Given the description of an element on the screen output the (x, y) to click on. 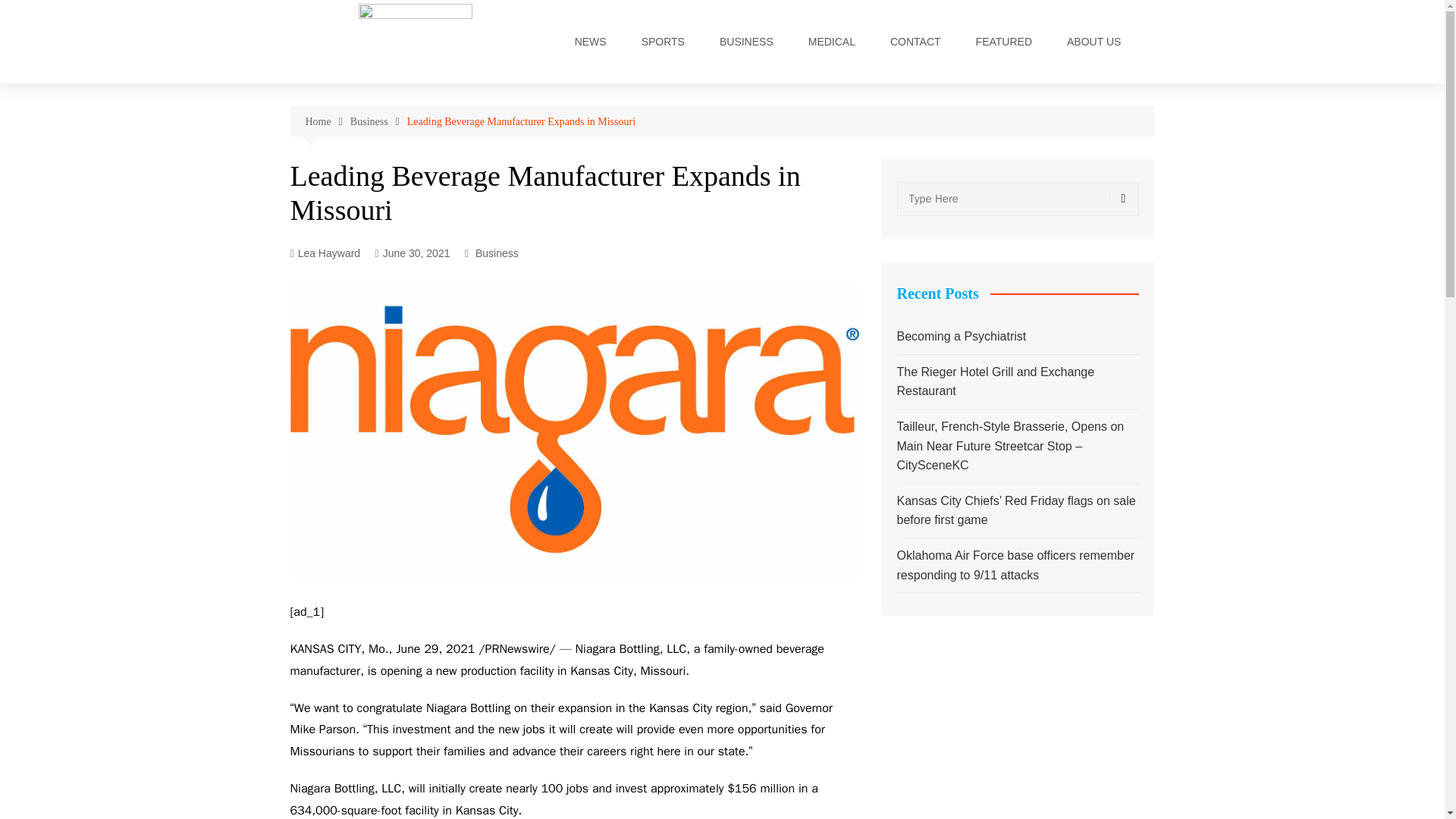
Lea Hayward (324, 253)
FEATURED (1003, 41)
NEWS (590, 41)
The Rieger Hotel Grill and Exchange Restaurant (1017, 381)
SPORTS (663, 41)
Becoming a Psychiatrist (1017, 336)
Business (497, 252)
ABOUT US (1093, 41)
CONTACT (915, 41)
Leading Beverage Manufacturer Expands in Missouri (520, 121)
